Given the description of an element on the screen output the (x, y) to click on. 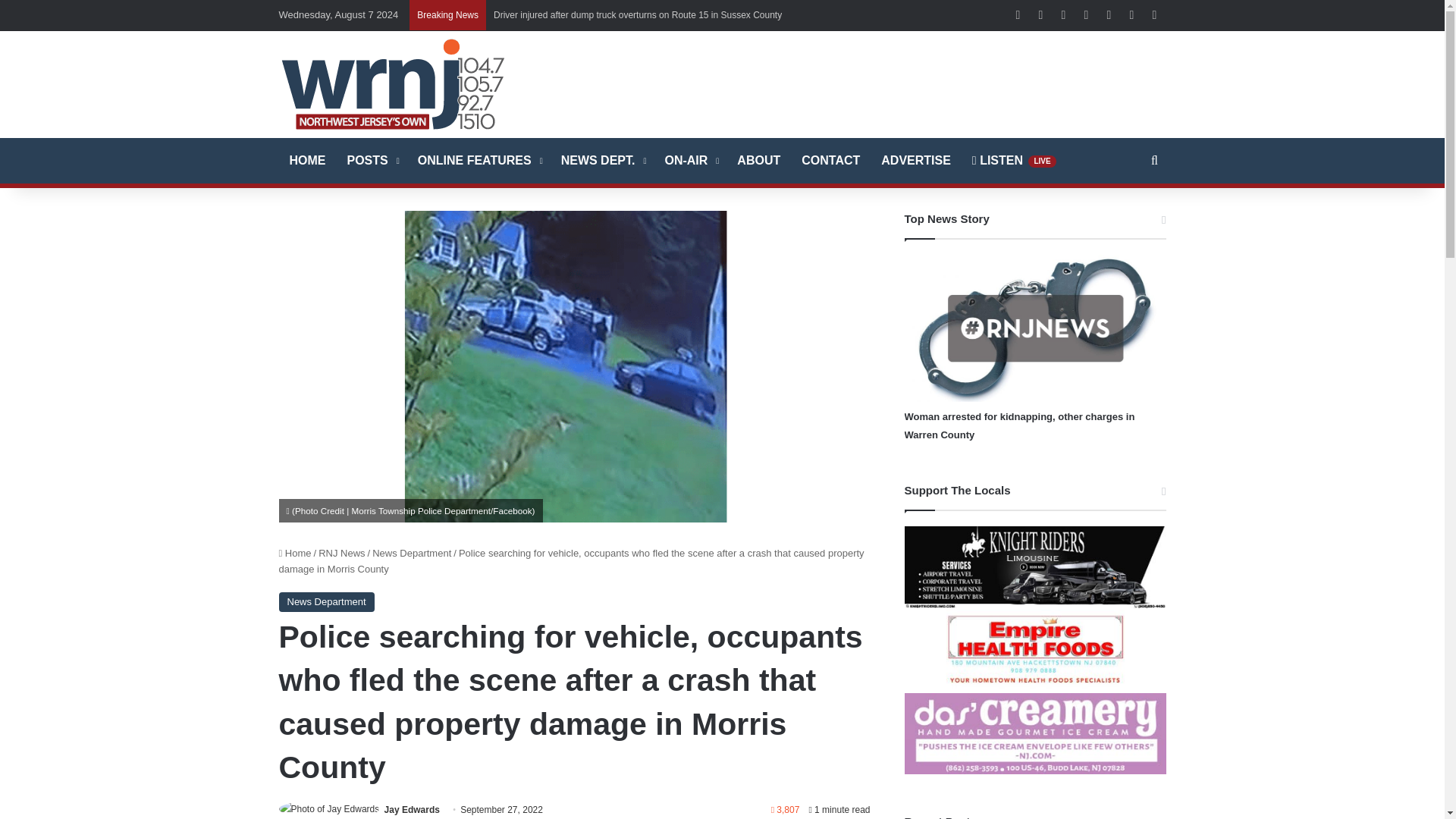
ON-AIR (689, 160)
CONTACT (830, 160)
Jay Edwards (411, 809)
ADVERTISE (915, 160)
NEWS DEPT. (601, 160)
ONLINE FEATURES (478, 160)
HOME (307, 160)
Empire Health Foods (1035, 650)
POSTS (371, 160)
ABOUT (758, 160)
WRNJ Radio (392, 83)
Knight Riders Limo (1035, 567)
